Given the description of an element on the screen output the (x, y) to click on. 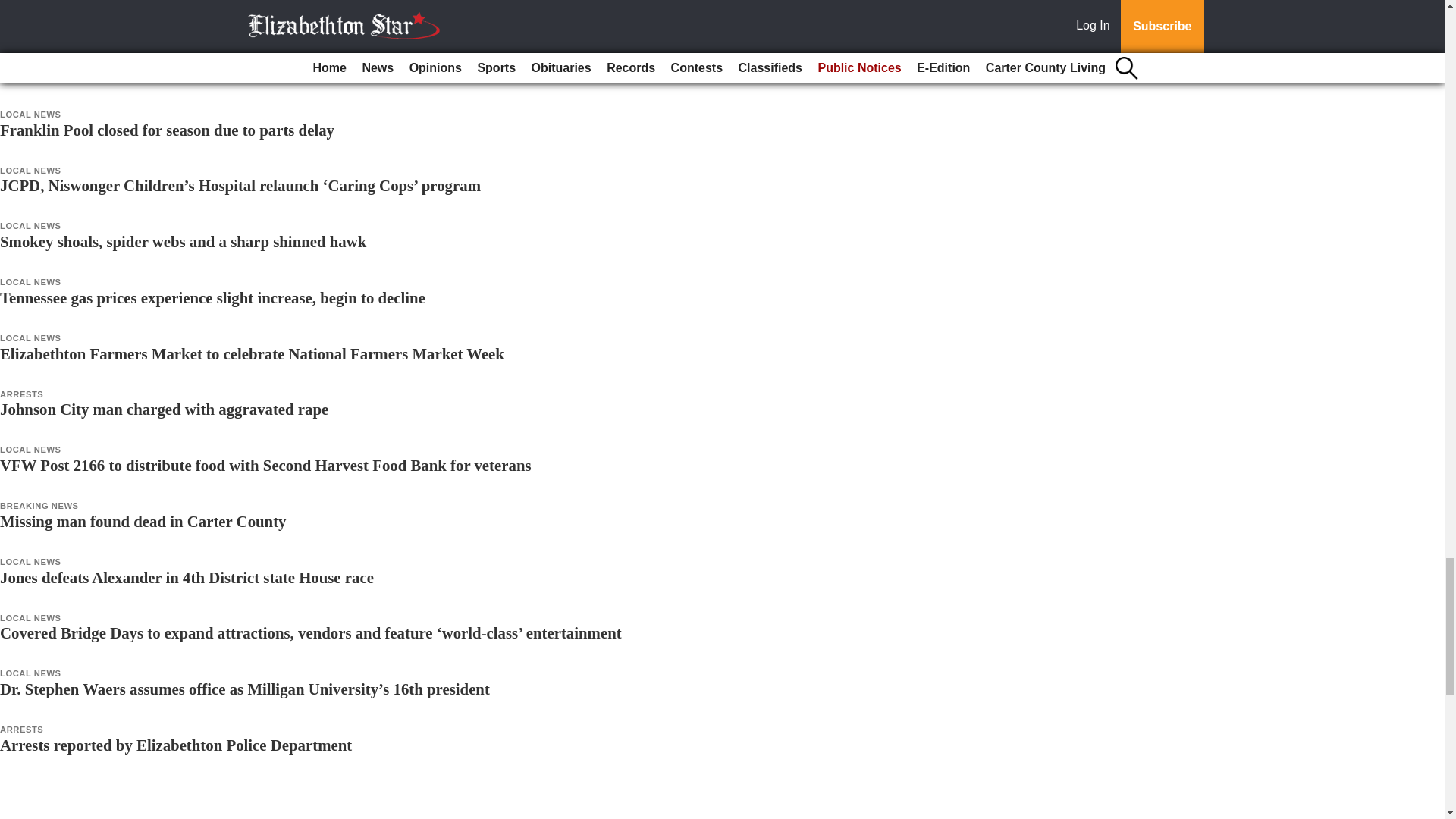
Johnson City man charged with aggravated rape (164, 408)
Franklin Pool closed for season due to parts delay (167, 129)
Gouge-Collins Family plan Aug. 17 reunion (146, 73)
Smokey shoals, spider webs and a sharp shinned hawk (183, 241)
